Given the description of an element on the screen output the (x, y) to click on. 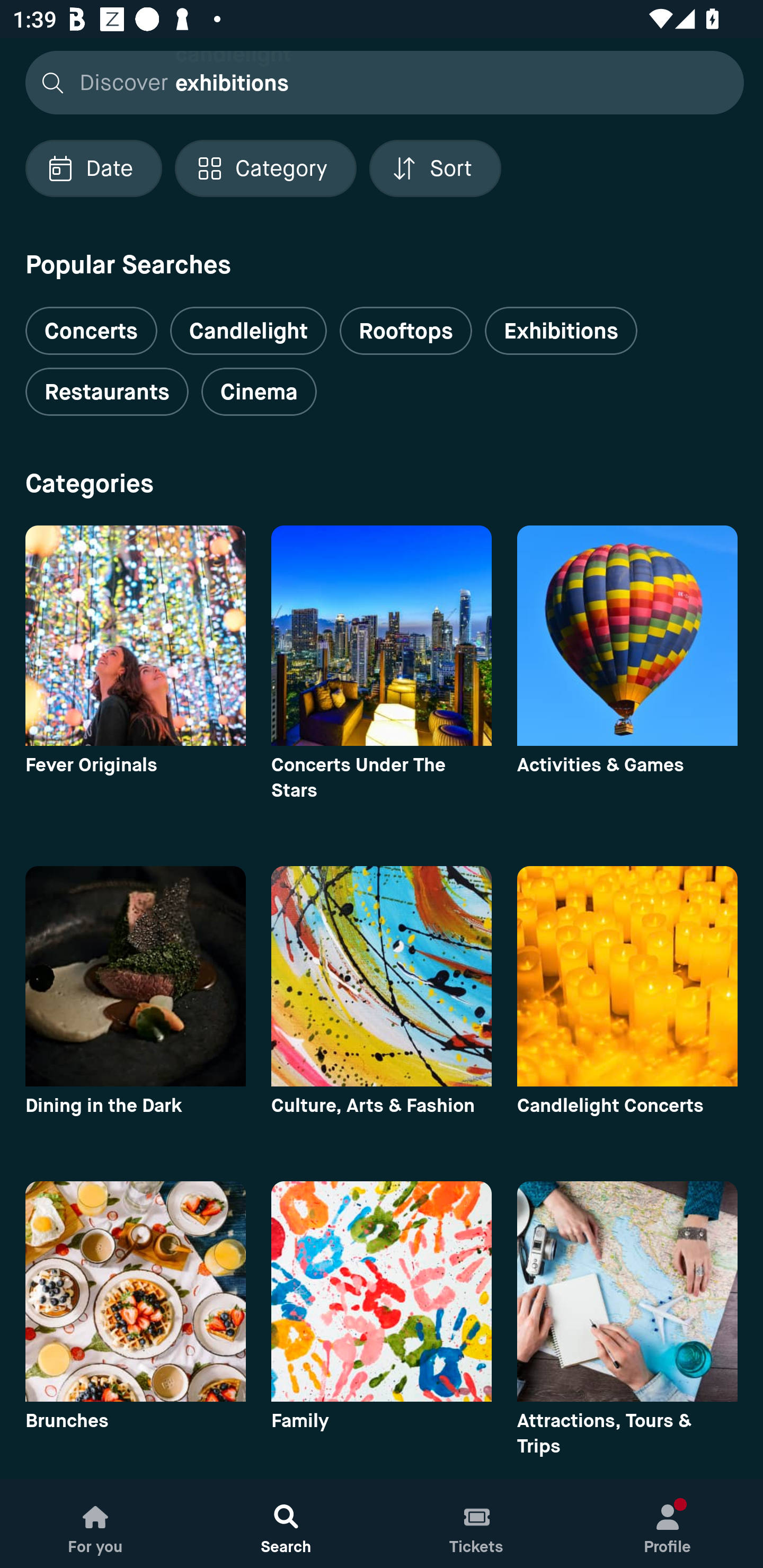
Discover candlelight exhibitions (379, 81)
Localized description Date (93, 168)
Localized description Category (265, 168)
Localized description Sort (435, 168)
Concerts (91, 323)
Candlelight (248, 330)
Rooftops (405, 330)
Exhibitions (560, 330)
Restaurants (106, 391)
Cinema (258, 391)
category image (135, 635)
category image (381, 635)
category image (627, 635)
category image (135, 975)
category image (381, 975)
category image (627, 975)
category image (135, 1290)
category image (381, 1290)
category image (627, 1290)
For you (95, 1523)
Tickets (476, 1523)
Profile, New notification Profile (667, 1523)
